Given the description of an element on the screen output the (x, y) to click on. 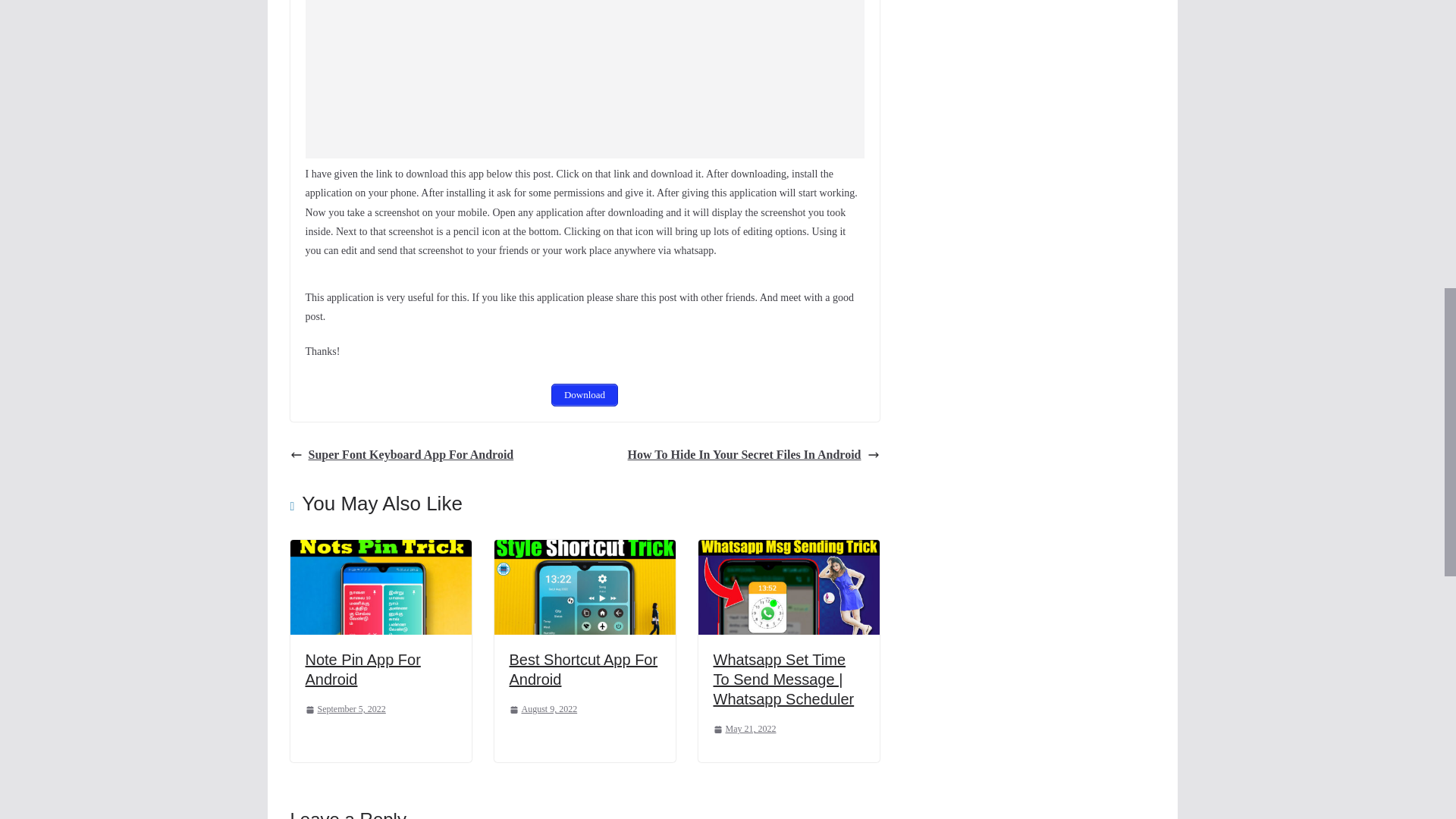
Advertisement (583, 79)
Note Pin App For Android (362, 669)
May 21, 2022 (744, 729)
September 5, 2022 (344, 709)
How To Hide In Your Secret Files In Android (753, 455)
August 9, 2022 (543, 709)
Super Font Keyboard App For Android (401, 455)
Download (584, 395)
Best Shortcut App For Android (583, 669)
